Given the description of an element on the screen output the (x, y) to click on. 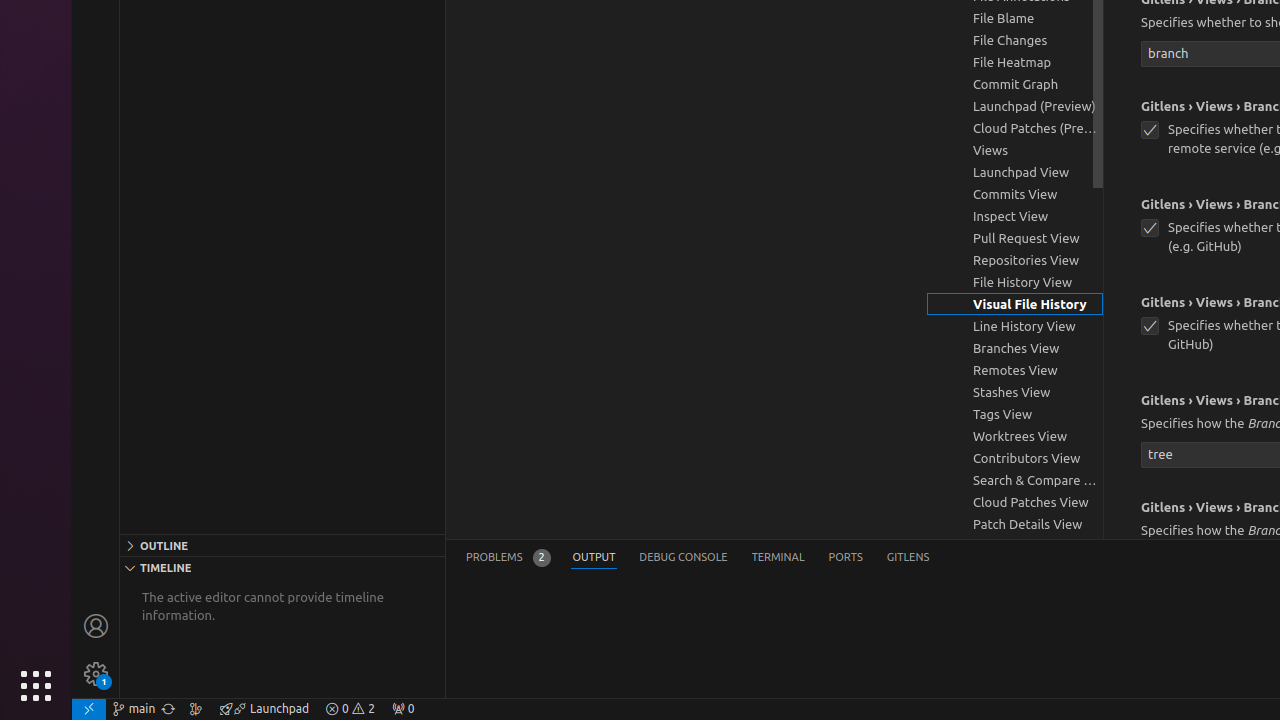
Timeline Section Element type: push-button (282, 567)
gitlens.views.branches.pullRequests.showForCommits Element type: check-box (1150, 326)
Show the GitLens Commit Graph Element type: push-button (196, 709)
